Given the description of an element on the screen output the (x, y) to click on. 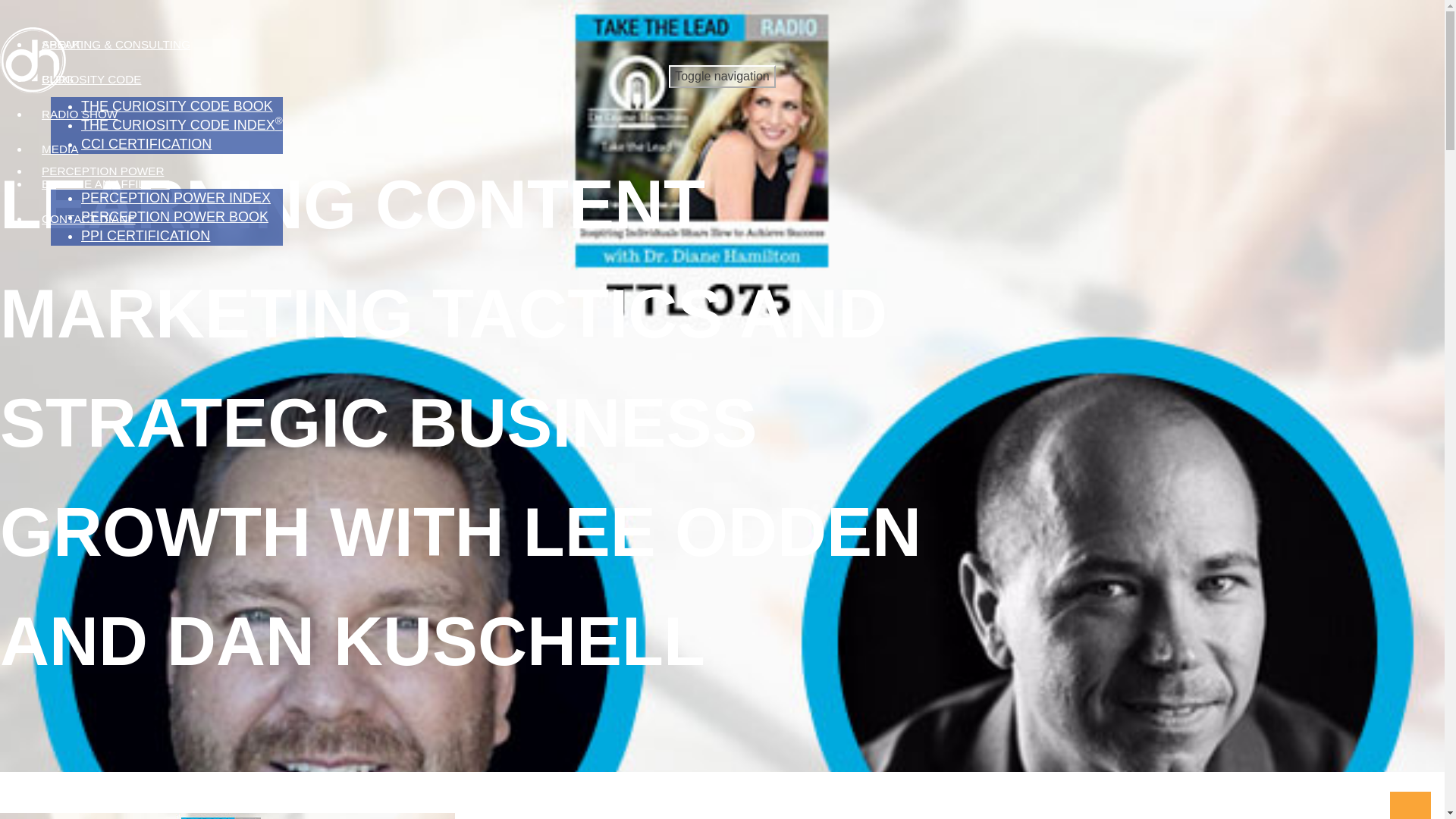
BECOME AN AFFILIATE (105, 184)
MEDIA (59, 149)
CURIOSITY CODE (91, 79)
PERCEPTION POWER INDEX (175, 197)
PERCEPTION POWER BOOK (174, 216)
THE CURIOSITY CODE BOOK (177, 106)
PERCEPTION POWER (102, 171)
ABOUT (61, 44)
CONTACT DIANE (88, 218)
RADIO SHOW (79, 114)
BLOG (57, 79)
Toggle navigation (722, 76)
CCI CERTIFICATION (146, 143)
PPI CERTIFICATION (145, 235)
